Given the description of an element on the screen output the (x, y) to click on. 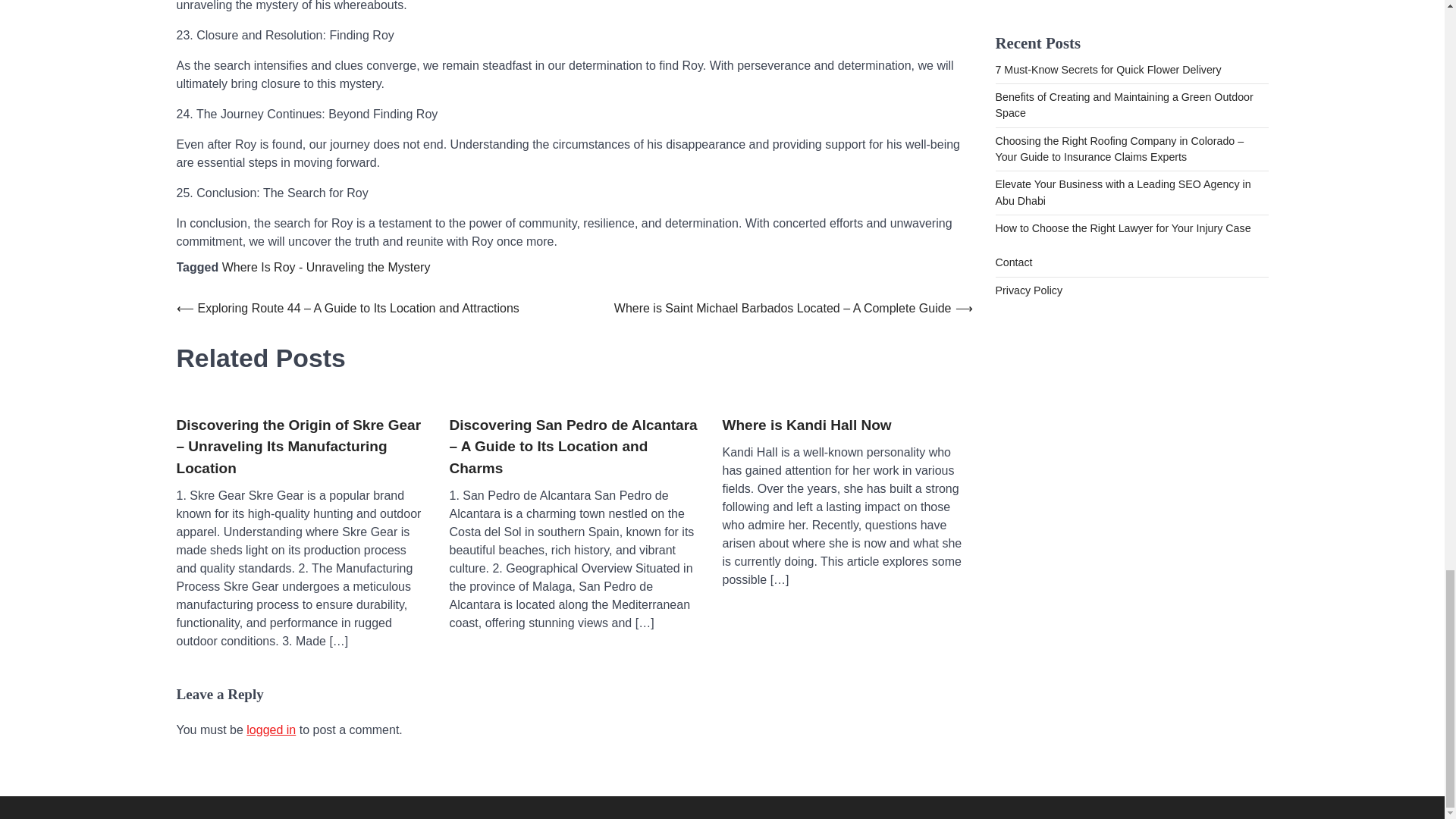
Where Is Roy - Unraveling the Mystery (326, 267)
Where is Kandi Hall Now (806, 425)
logged in (270, 729)
